Given the description of an element on the screen output the (x, y) to click on. 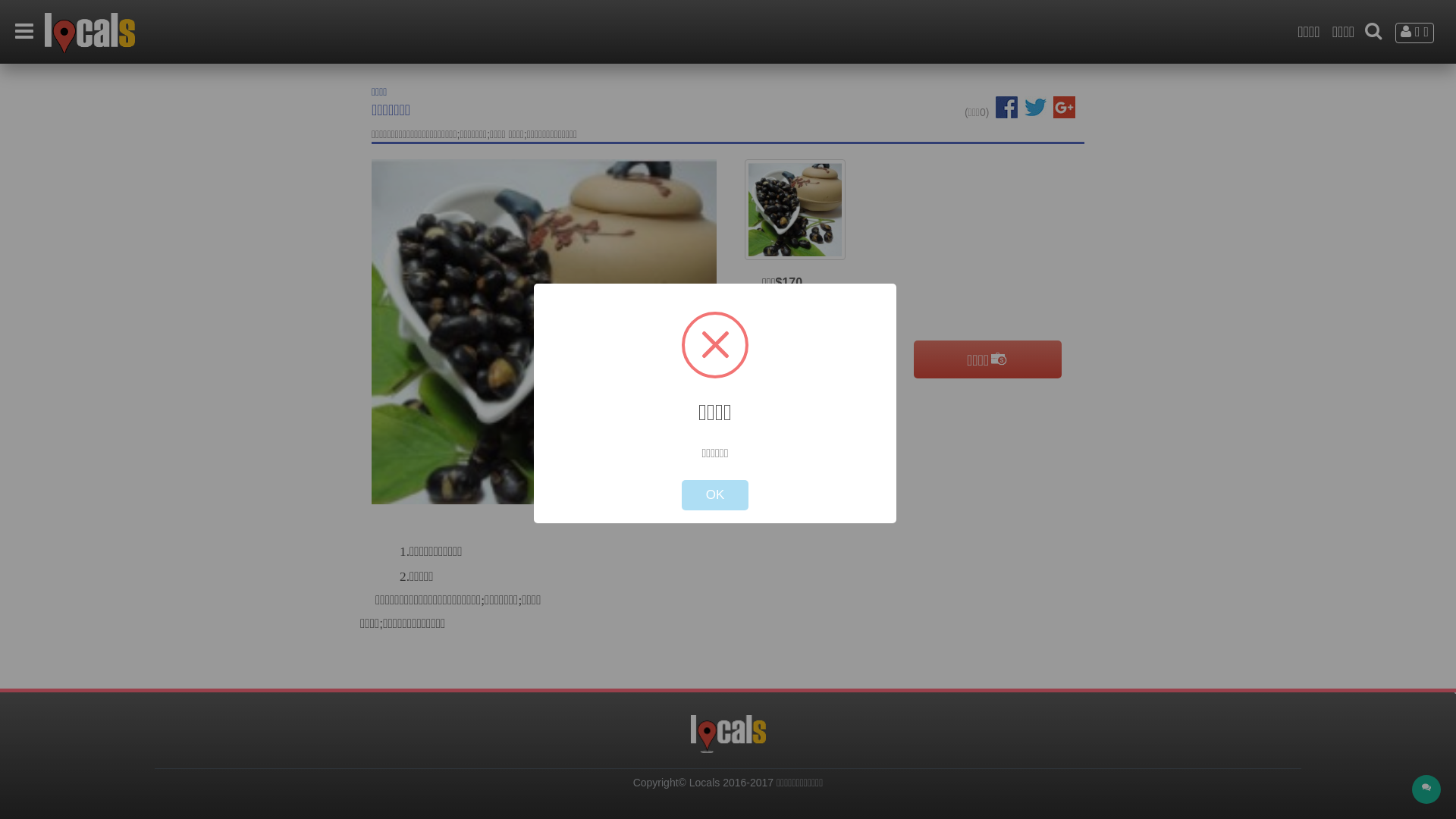
OK Element type: text (715, 495)
